Given the description of an element on the screen output the (x, y) to click on. 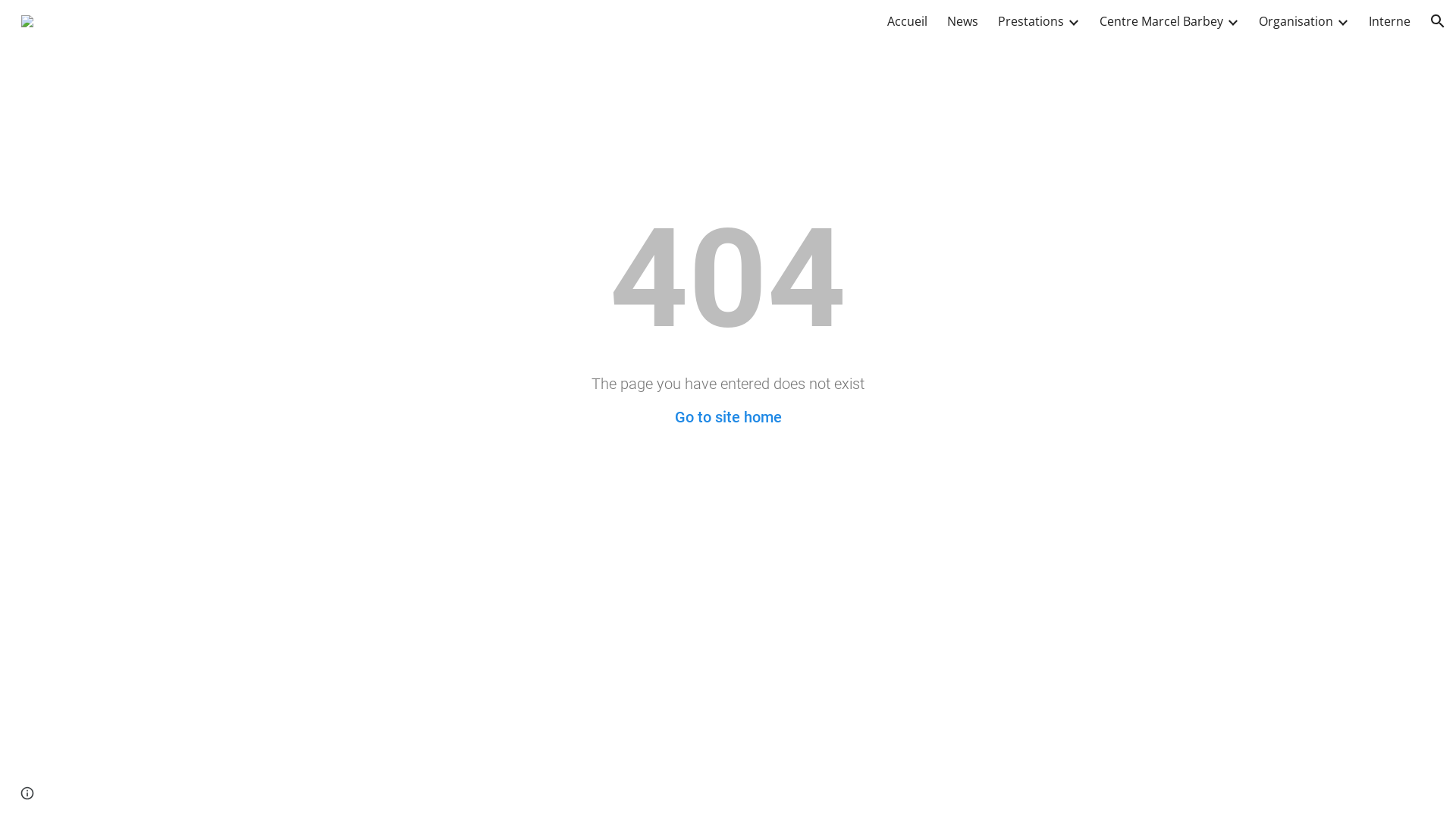
Accueil Element type: text (907, 20)
Prestations Element type: text (1030, 20)
Centre Marcel Barbey Element type: text (1161, 20)
News Element type: text (962, 20)
Organisation Element type: text (1295, 20)
Interne Element type: text (1389, 20)
Expand/Collapse Element type: hover (1232, 20)
Expand/Collapse Element type: hover (1072, 20)
Go to site home Element type: text (727, 416)
Expand/Collapse Element type: hover (1342, 20)
